Given the description of an element on the screen output the (x, y) to click on. 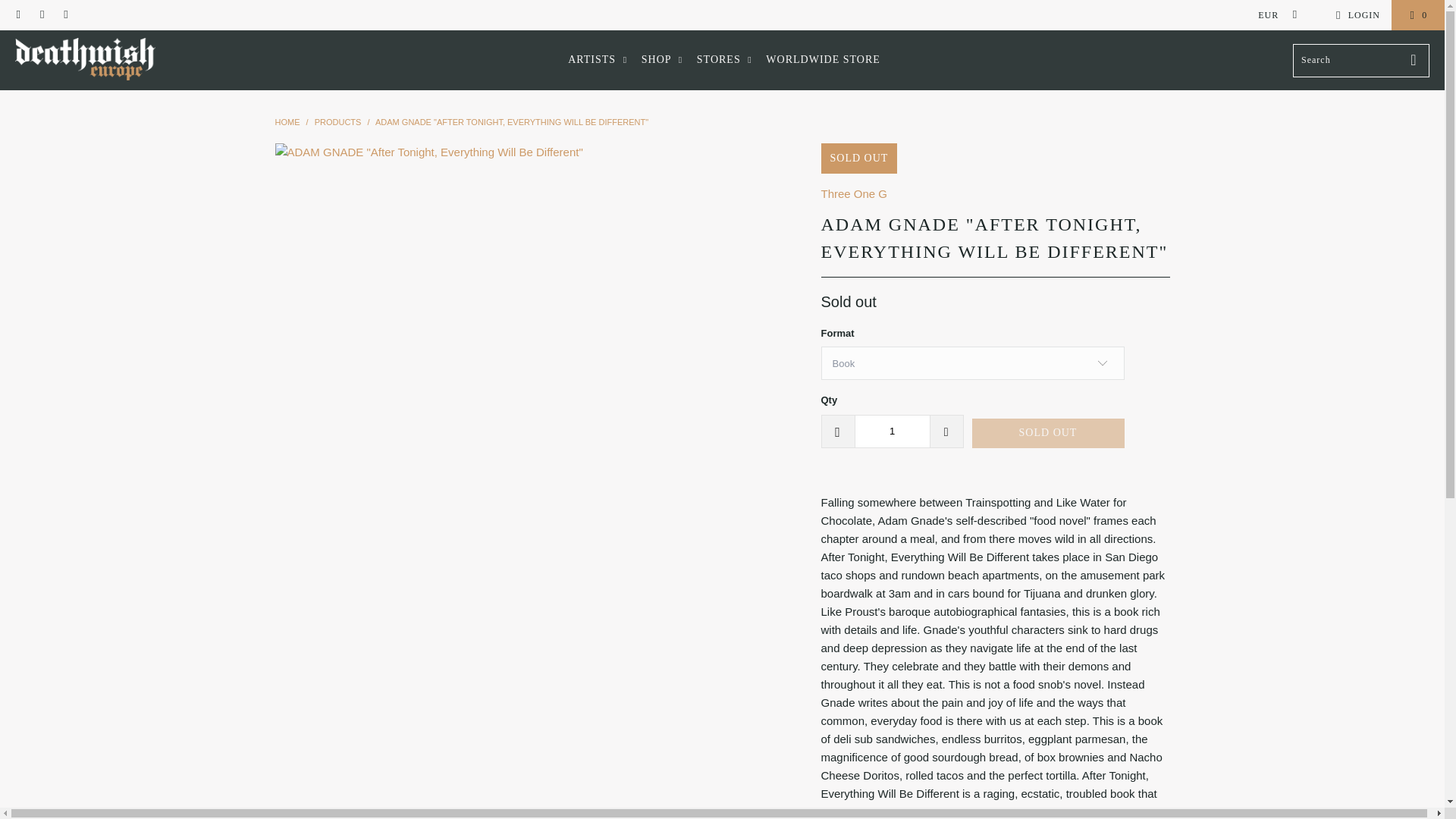
My Account  (1355, 14)
Deathwish Inc Europe on Instagram (65, 14)
Products (337, 121)
Deathwish Inc Europe on Twitter (17, 14)
Deathwish Inc Europe on Facebook (41, 14)
Deathwish Inc Europe (84, 59)
1 (891, 430)
Deathwish Inc Europe (287, 121)
